Given the description of an element on the screen output the (x, y) to click on. 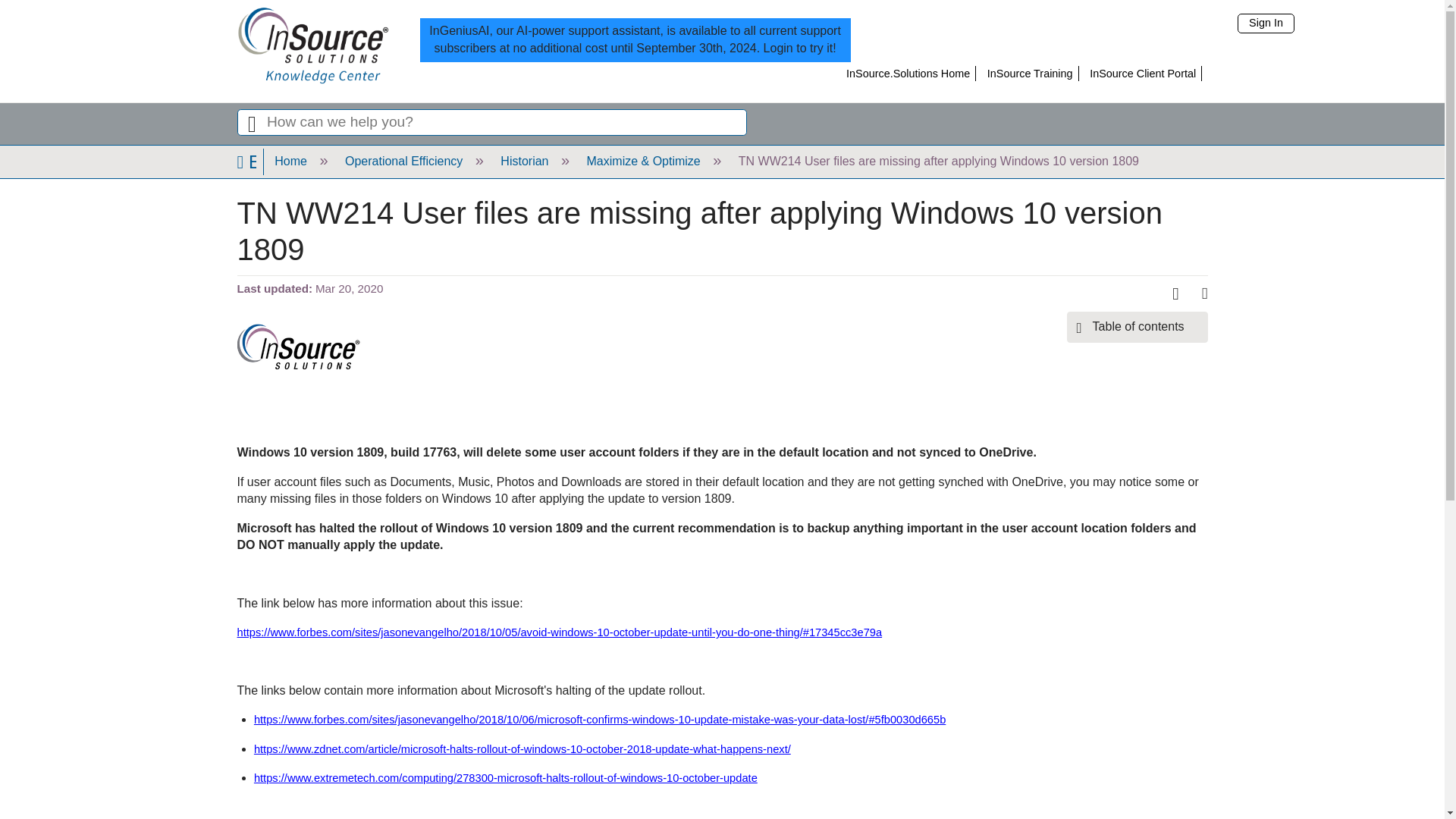
InSource.Solutions Home (907, 73)
InSource Training (1030, 73)
Sign In (1266, 23)
Table of contents (1137, 326)
Search (250, 122)
Operational Efficiency (402, 160)
InSource Client Portal (1142, 73)
Home (289, 160)
Historian (523, 160)
